Given the description of an element on the screen output the (x, y) to click on. 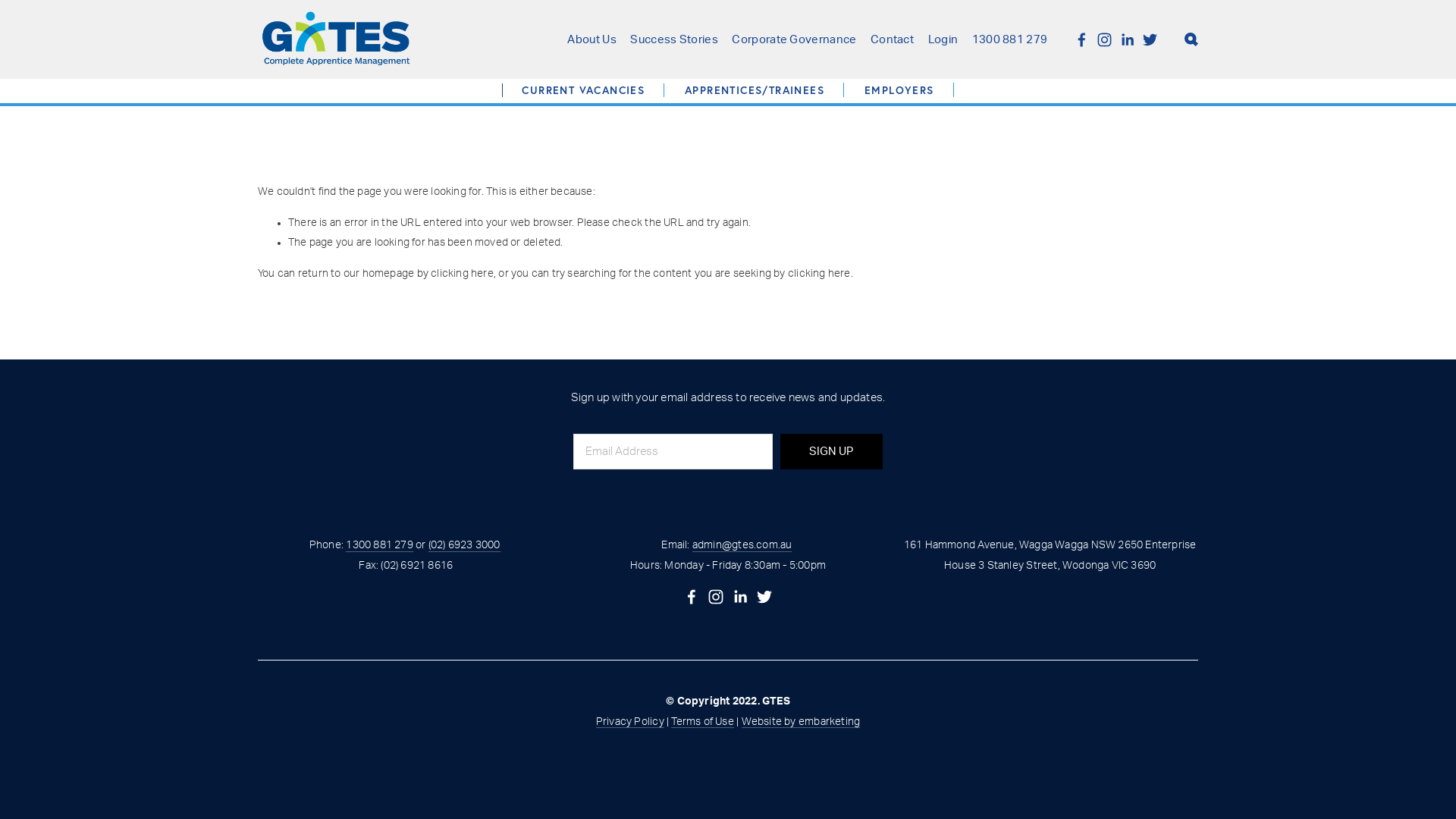
About Us Element type: text (591, 39)
APPRENTICES/TRAINEES Element type: text (764, 89)
Terms of Use Element type: text (702, 722)
Success Stories Element type: text (674, 39)
admin@gtes.com.au Element type: text (742, 545)
(02) 6923 3000 Element type: text (464, 545)
Privacy Policy Element type: text (630, 722)
CURRENT VACANCIES Element type: text (583, 90)
1300 881 279 Element type: text (1010, 39)
1300 881 279 Element type: text (379, 545)
Website by embarketing Element type: text (800, 722)
EMPLOYERS Element type: text (908, 89)
clicking here Element type: text (461, 273)
Corporate Governance Element type: text (793, 38)
SIGN UP Element type: text (831, 451)
Login Element type: text (943, 39)
clicking here Element type: text (818, 273)
Contact Element type: text (891, 38)
